Given the description of an element on the screen output the (x, y) to click on. 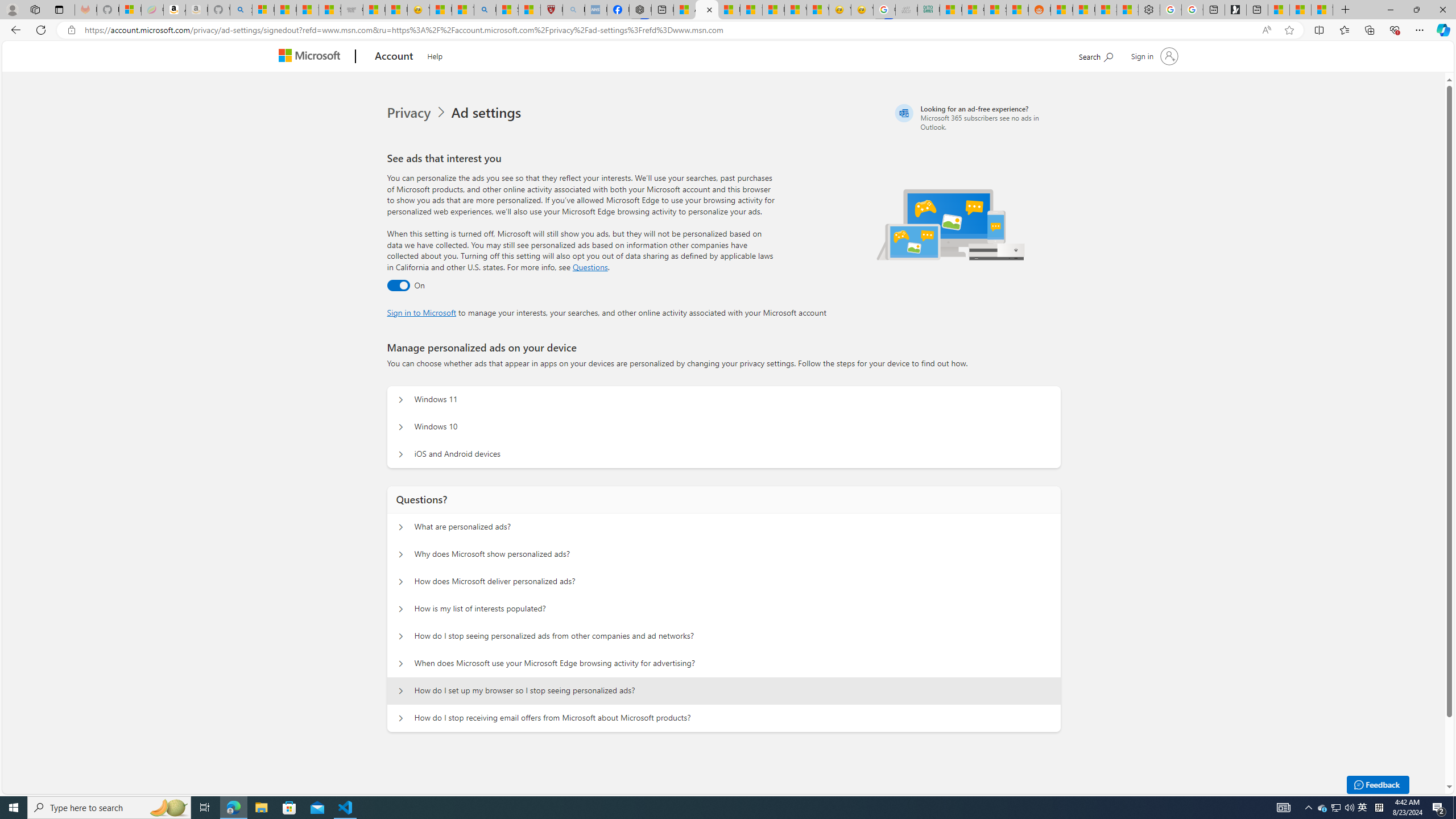
These 3 Stocks Pay You More Than 5% to Own Them (1322, 9)
Questions? How does Microsoft deliver personalized ads? (401, 581)
Bing (484, 9)
Sign in to Microsoft (422, 311)
